Given the description of an element on the screen output the (x, y) to click on. 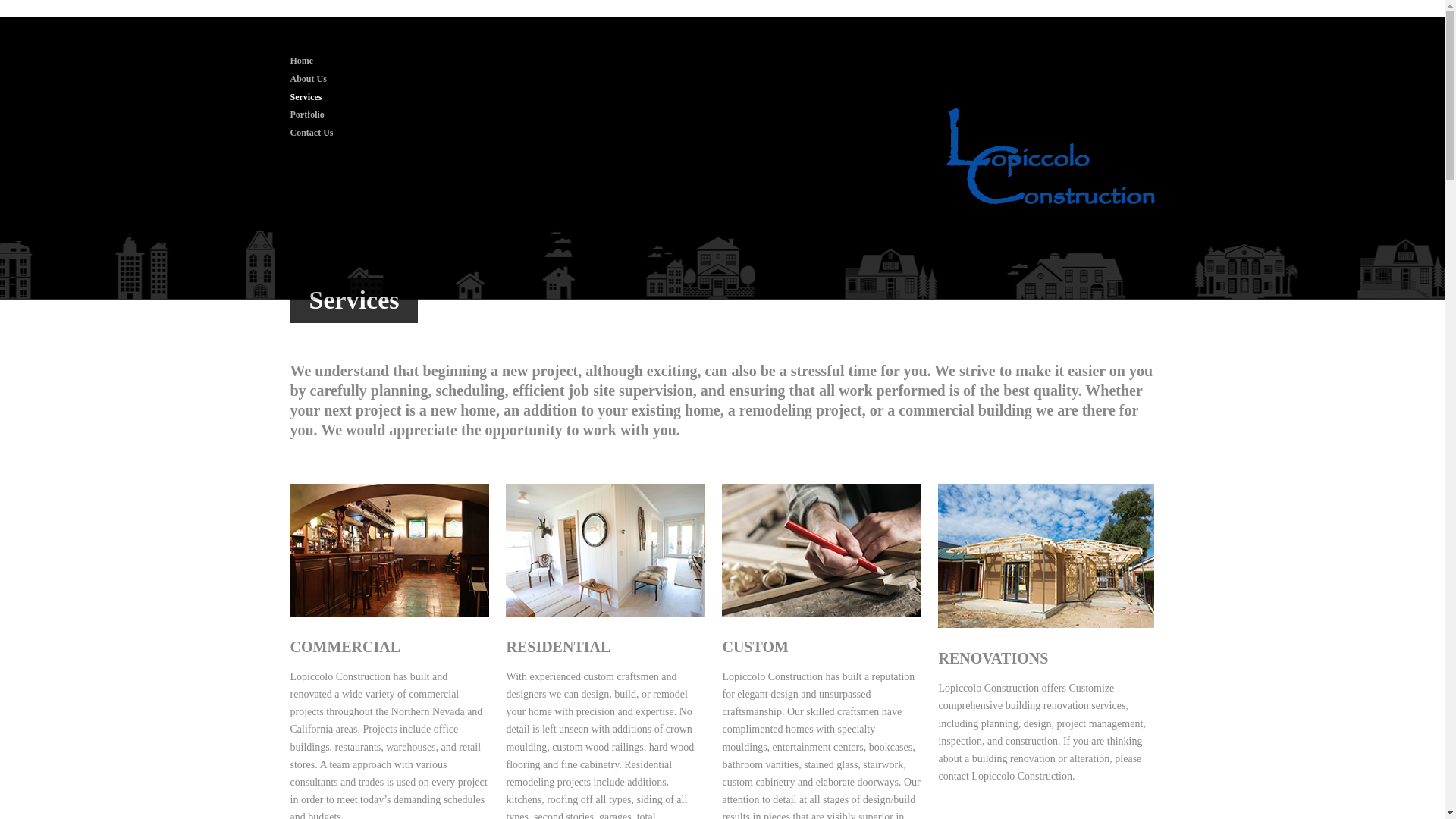
Contact Us (311, 132)
Portfolio (306, 113)
About Us (307, 78)
Services (305, 96)
Home (301, 60)
